Given the description of an element on the screen output the (x, y) to click on. 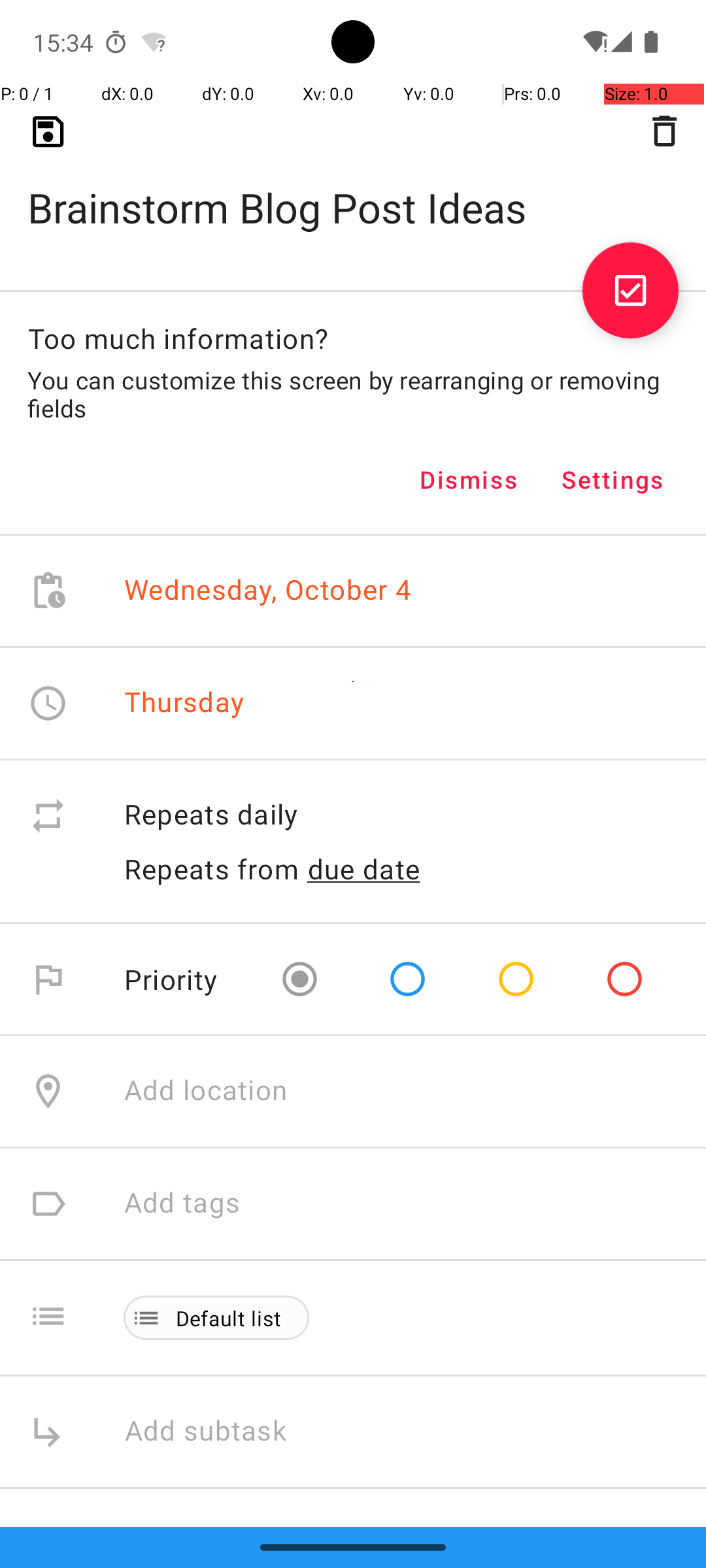
Repeats daily Element type: android.widget.TextView (400, 815)
Repeats from Element type: android.widget.TextView (211, 868)
due date Element type: android.widget.TextView (363, 868)
